Given the description of an element on the screen output the (x, y) to click on. 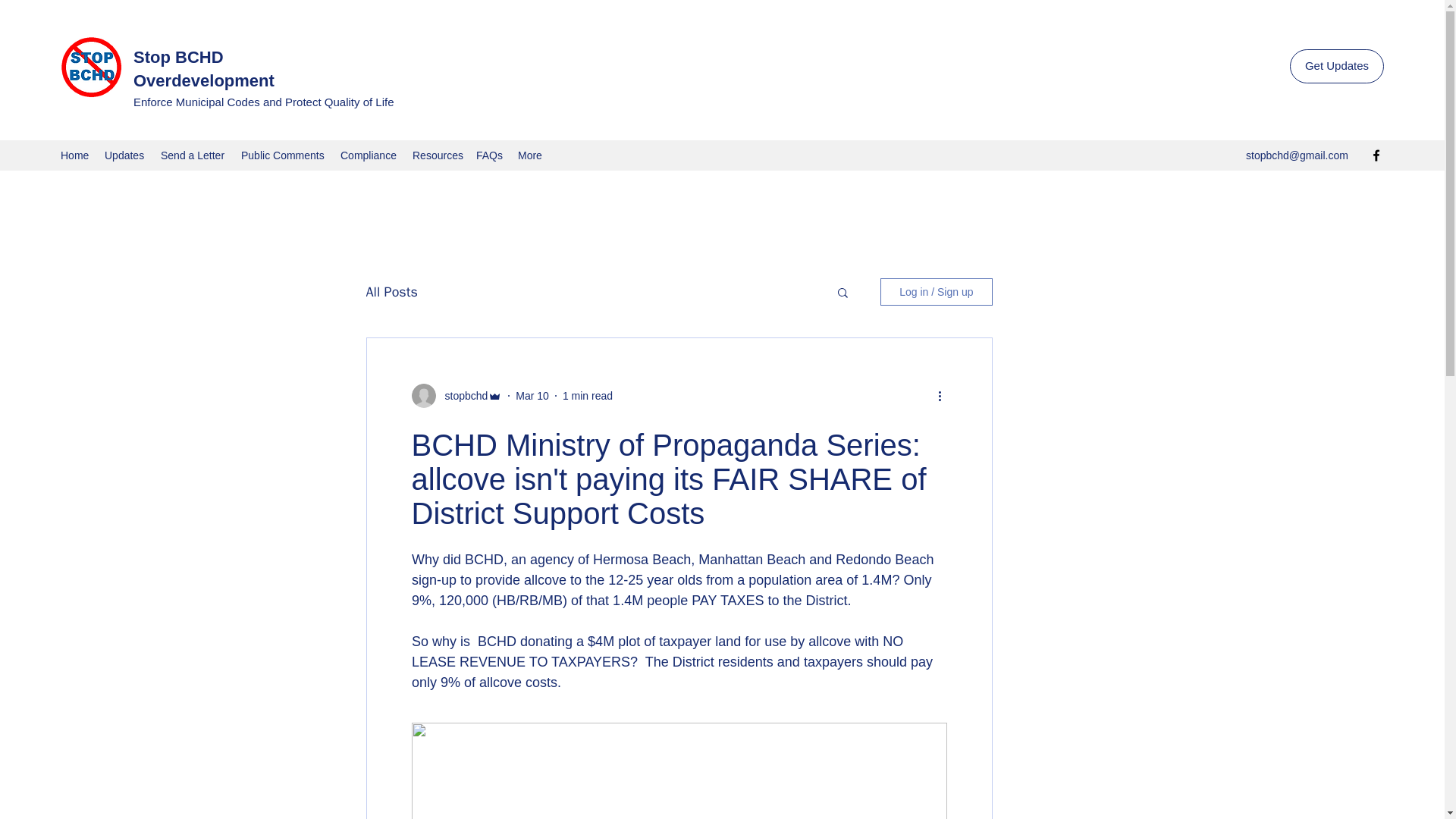
Resources (436, 155)
Stop BCHD Overdevelopment (204, 68)
Get Updates (1337, 66)
FAQs (489, 155)
Mar 10 (531, 395)
All Posts (390, 291)
Home (74, 155)
Send a Letter (192, 155)
1 min read (587, 395)
Compliance (368, 155)
Updates (124, 155)
Public Comments (282, 155)
stopbchd (461, 396)
